Given the description of an element on the screen output the (x, y) to click on. 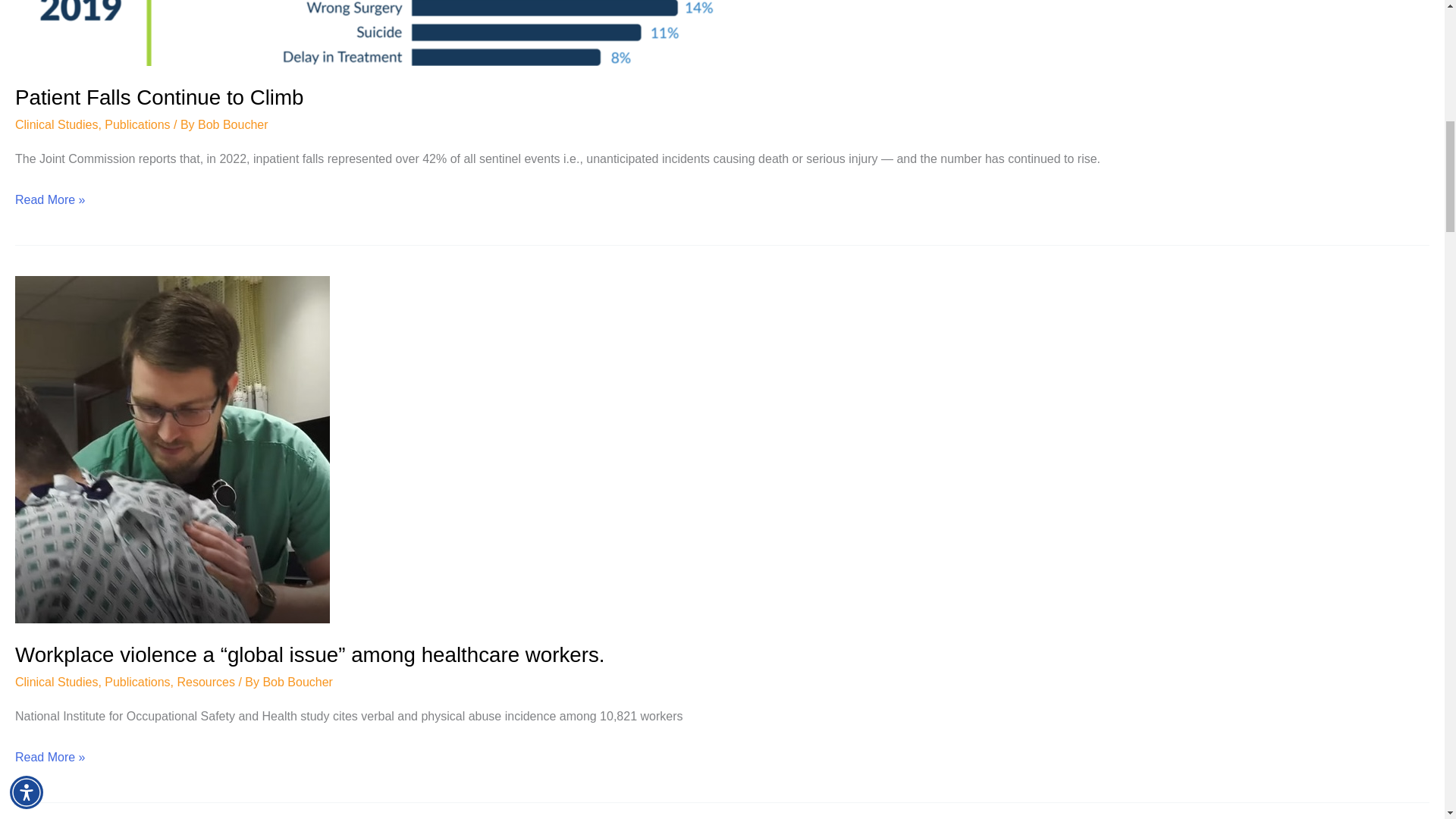
View all posts by Bob Boucher (232, 124)
View all posts by Bob Boucher (297, 681)
